Given the description of an element on the screen output the (x, y) to click on. 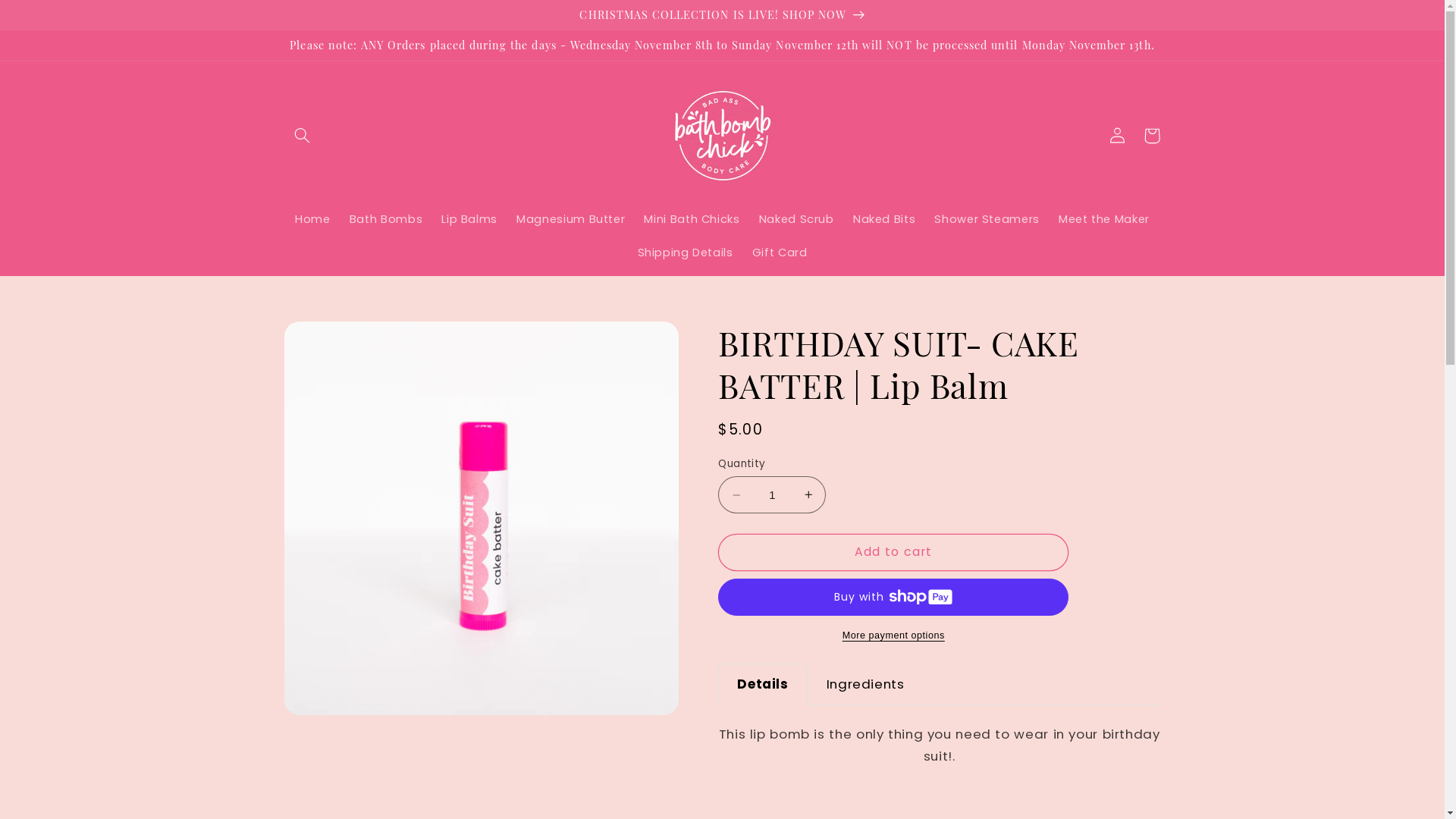
Shipping Details Element type: text (684, 252)
Magnesium Butter Element type: text (570, 219)
Bath Bombs Element type: text (385, 219)
Shower Steamers Element type: text (987, 219)
Naked Bits Element type: text (884, 219)
Increase quantity for BIRTHDAY SUIT- CAKE BATTER | Lip Balm Element type: text (807, 494)
Details Element type: text (762, 684)
Naked Scrub Element type: text (796, 219)
Meet the Maker Element type: text (1103, 219)
Add to cart Element type: text (893, 552)
Cart Element type: text (1151, 135)
Ingredients Element type: text (865, 684)
Log in Element type: text (1116, 135)
Lip Balms Element type: text (469, 219)
Home Element type: text (312, 219)
More payment options Element type: text (893, 635)
Mini Bath Chicks Element type: text (691, 219)
Gift Card Element type: text (779, 252)
Skip to product information Element type: text (331, 338)
Decrease quantity for BIRTHDAY SUIT- CAKE BATTER | Lip Balm Element type: text (735, 494)
CHRISTMAS COLLECTION IS LIVE! SHOP NOW Element type: text (722, 14)
